Given the description of an element on the screen output the (x, y) to click on. 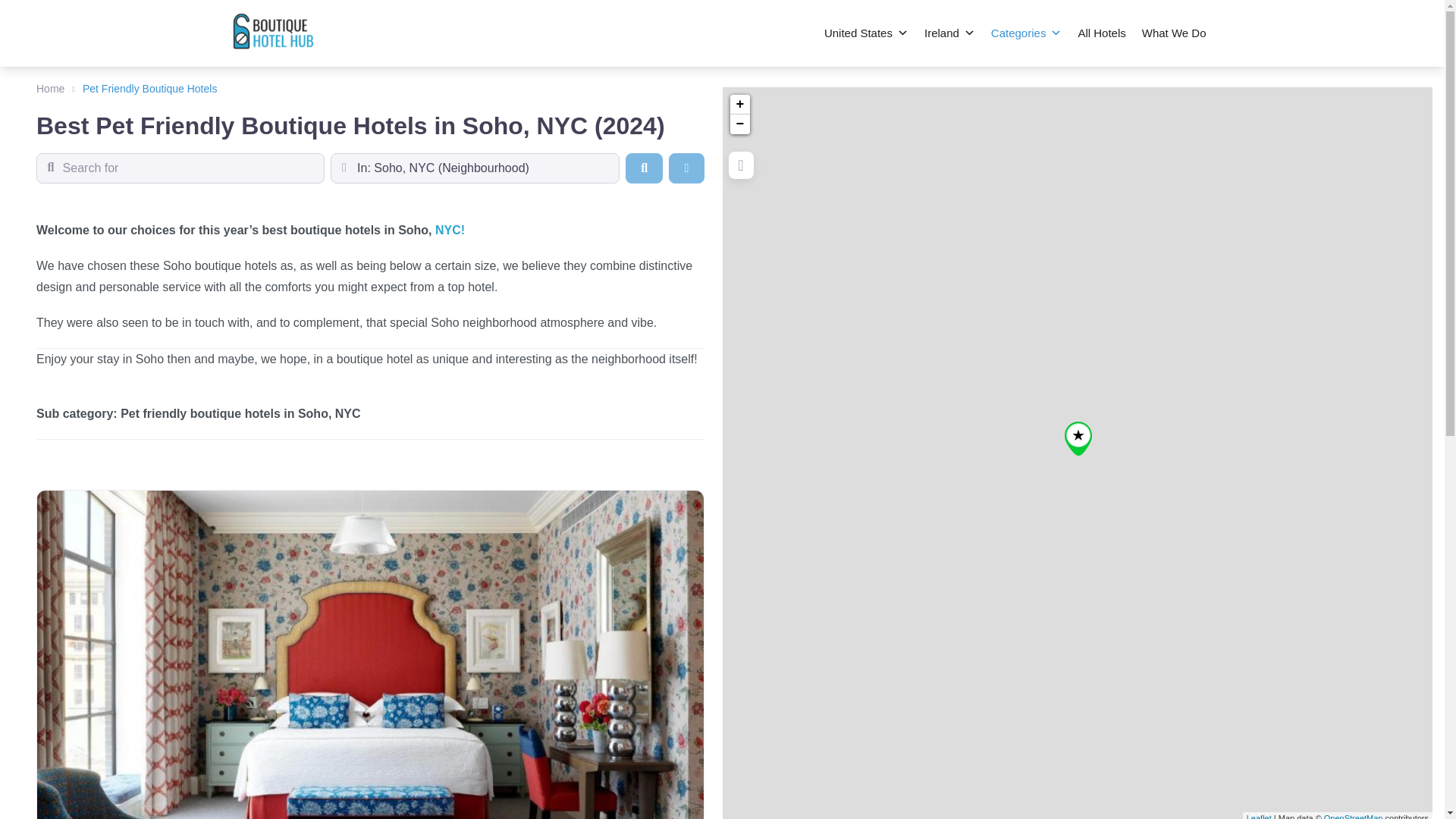
Zoom out (739, 124)
Zoom in (739, 104)
A JS library for interactive maps (1258, 816)
Crosby Street Hotel (1078, 438)
United States (865, 33)
